Given the description of an element on the screen output the (x, y) to click on. 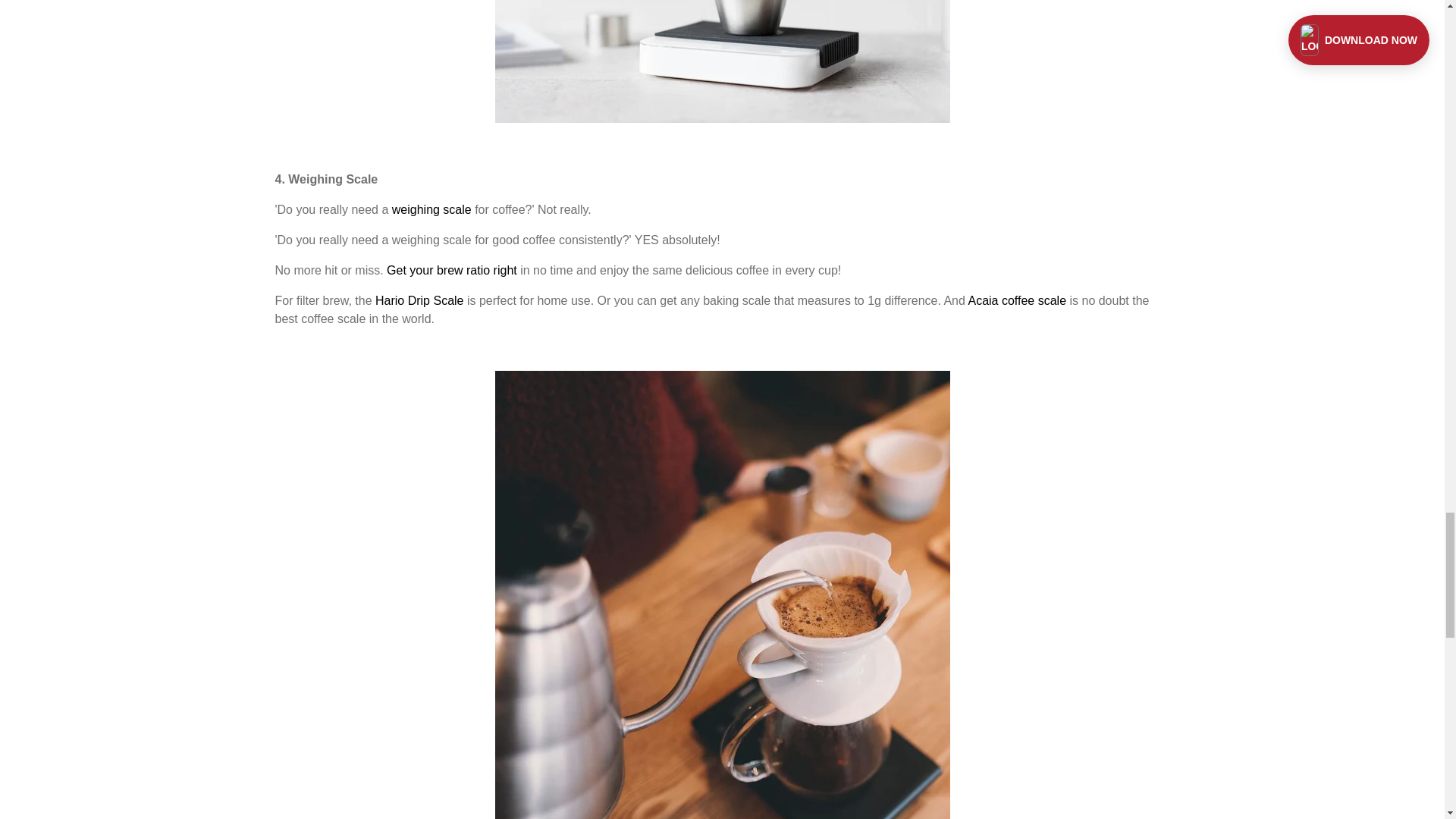
coffee weighing scale (431, 209)
About coffee brew ratio (451, 269)
Coffee scale (722, 118)
